Given the description of an element on the screen output the (x, y) to click on. 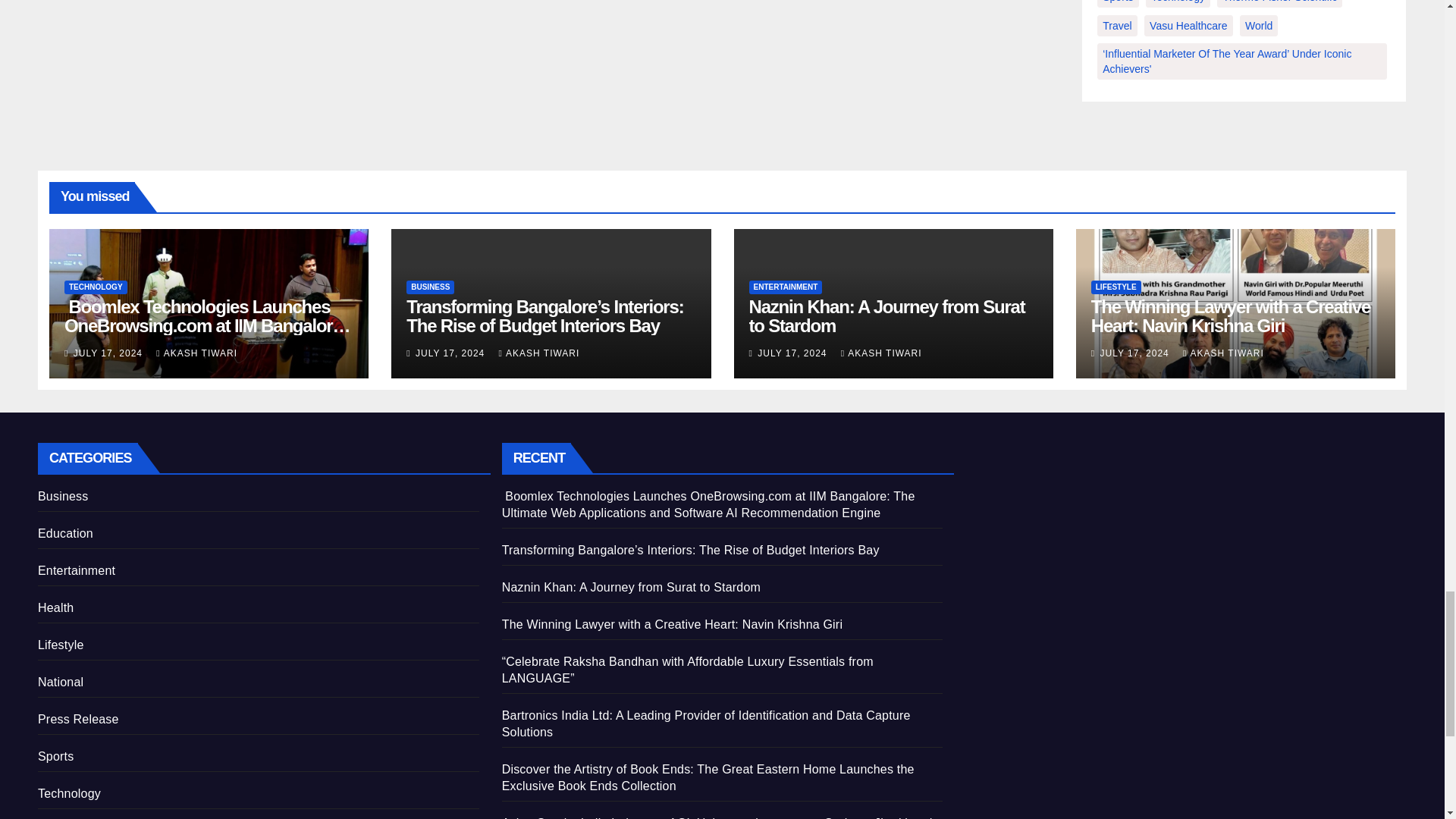
Permalink to: Naznin Khan: A Journey from Surat to Stardom (887, 315)
